Given the description of an element on the screen output the (x, y) to click on. 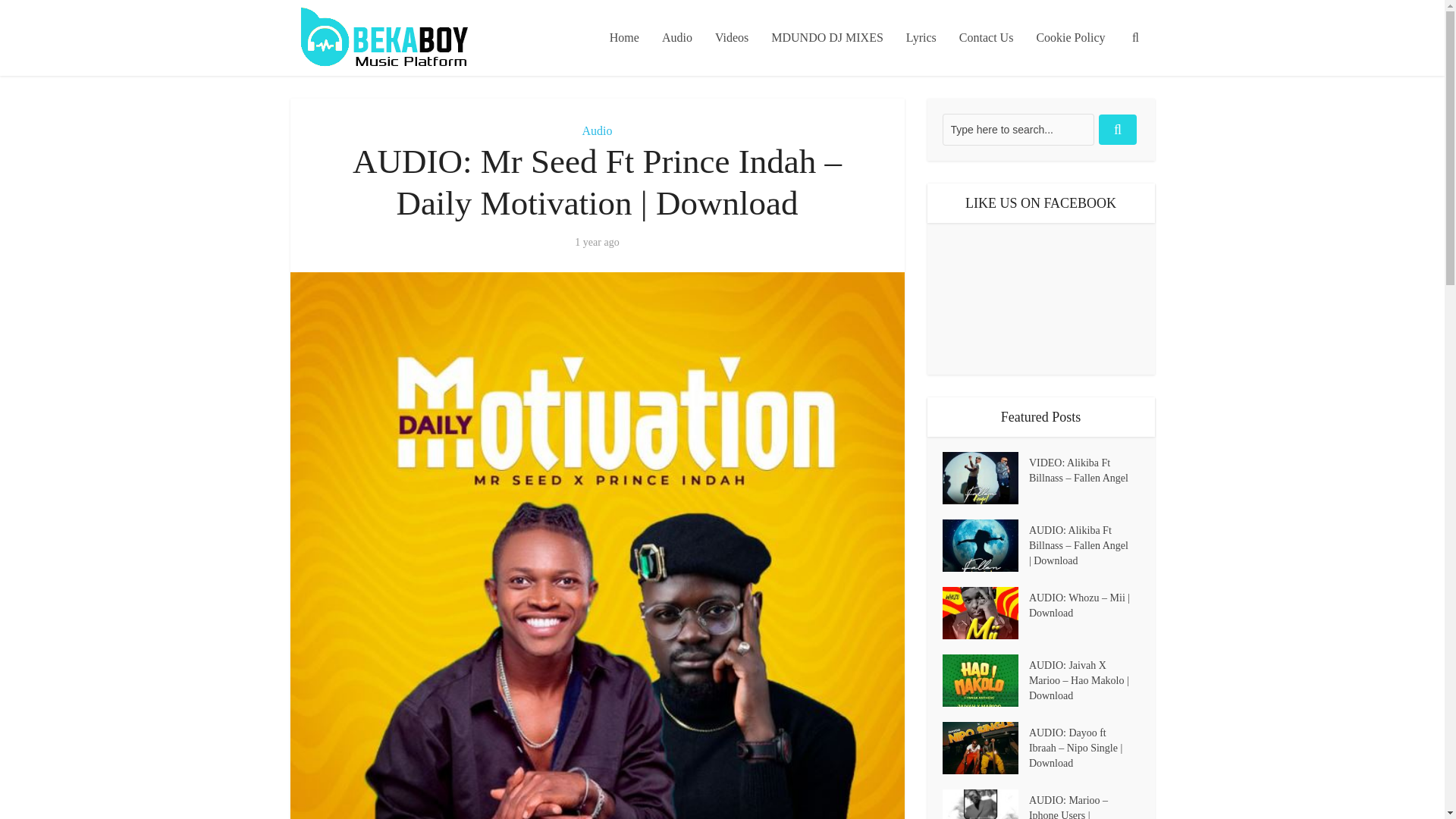
Type here to search... (1017, 129)
Cookie Policy (1070, 38)
Contact Us (986, 38)
Audio (597, 130)
Type here to search... (1017, 129)
MDUNDO DJ MIXES (827, 38)
